Given the description of an element on the screen output the (x, y) to click on. 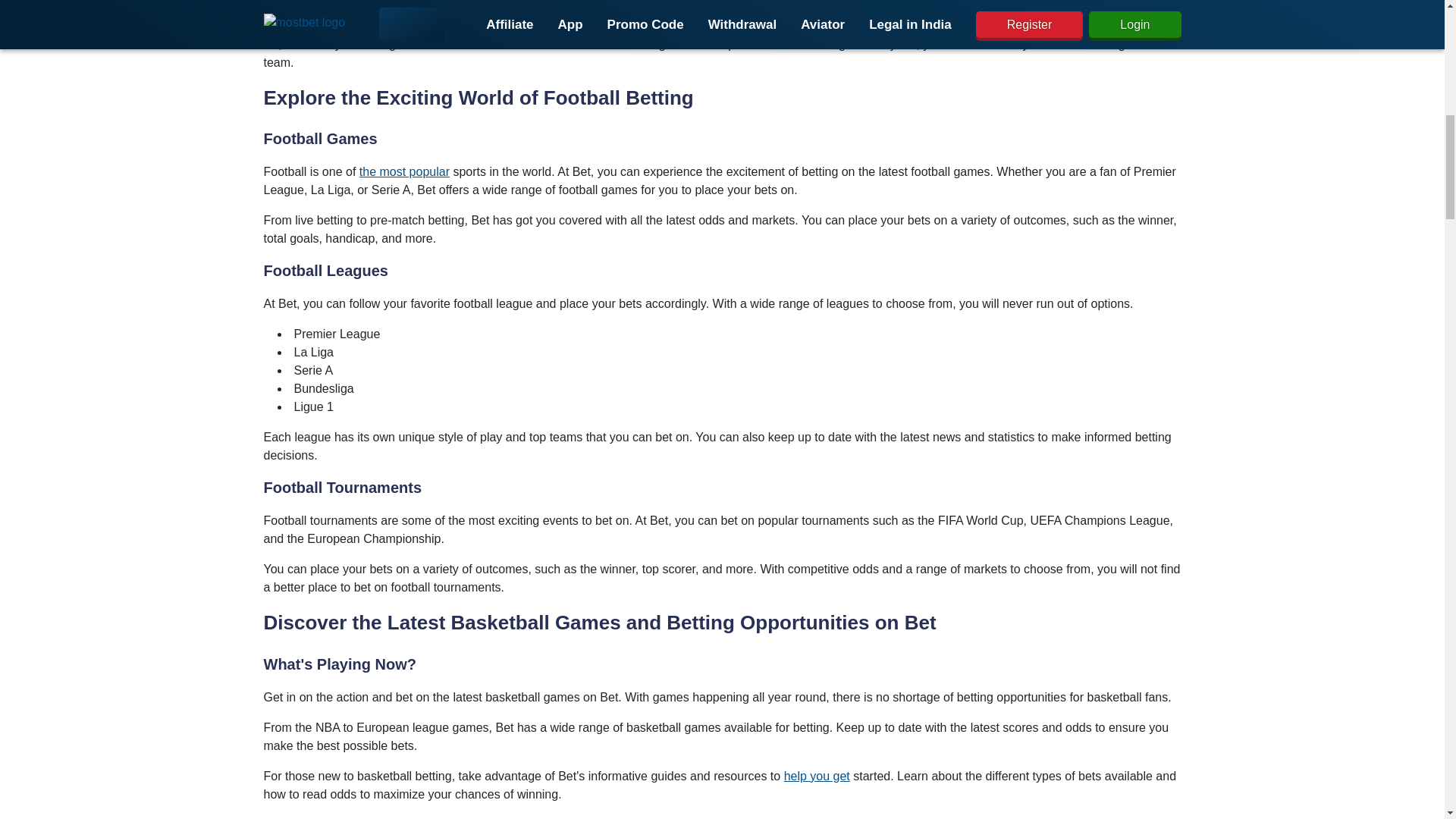
the most popular (404, 171)
help you get (817, 775)
